Given the description of an element on the screen output the (x, y) to click on. 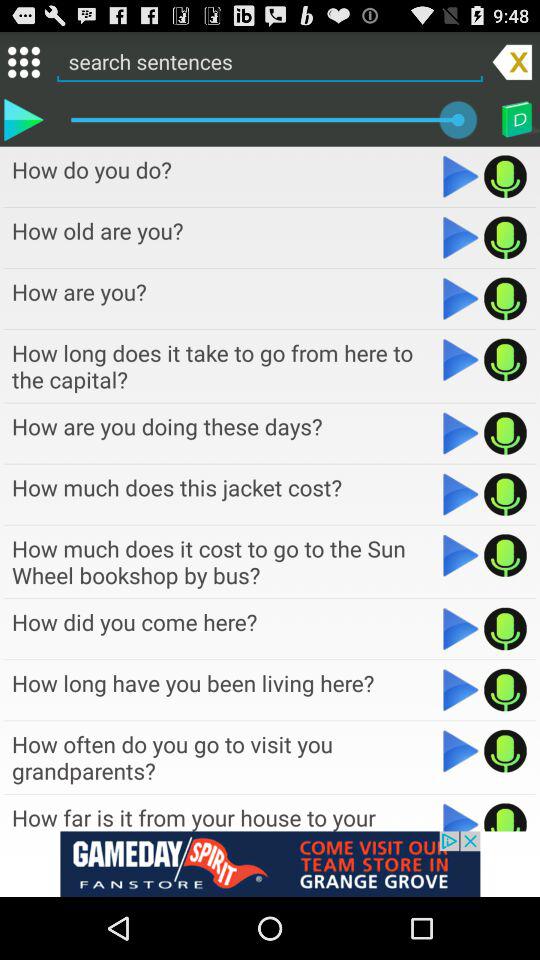
play button (460, 751)
